Given the description of an element on the screen output the (x, y) to click on. 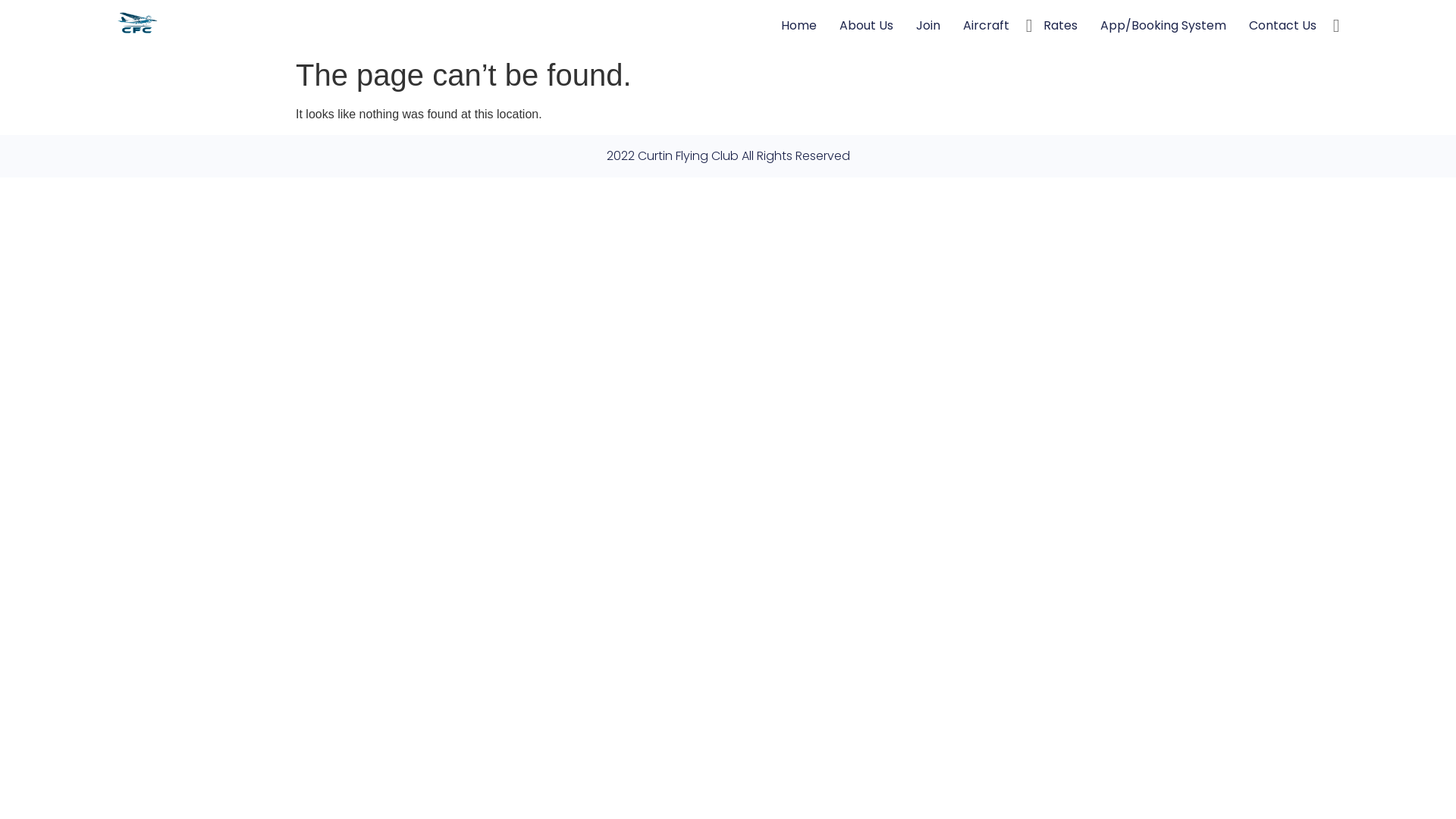
About Us Element type: text (866, 25)
App/Booking System Element type: text (1162, 25)
Rates Element type: text (1060, 25)
Home Element type: text (798, 25)
Join Element type: text (927, 25)
Contact Us Element type: text (1282, 25)
Aircraft Element type: text (985, 25)
